Given the description of an element on the screen output the (x, y) to click on. 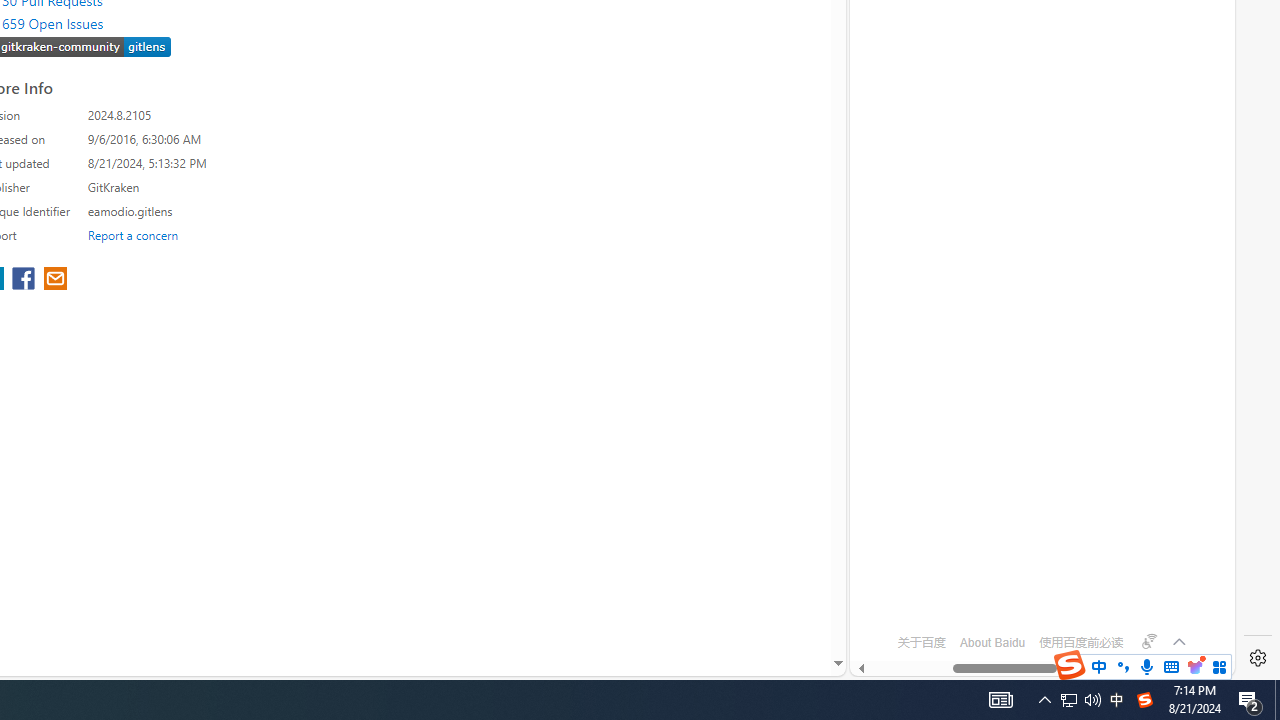
Global web icon (888, 587)
OFTV (1034, 587)
Actions for this site (1149, 184)
OFTV - Enjoy videos from your favorite OF creators! (1034, 604)
share extension on email (54, 280)
share extension on facebook (26, 280)
About Baidu (992, 642)
